Given the description of an element on the screen output the (x, y) to click on. 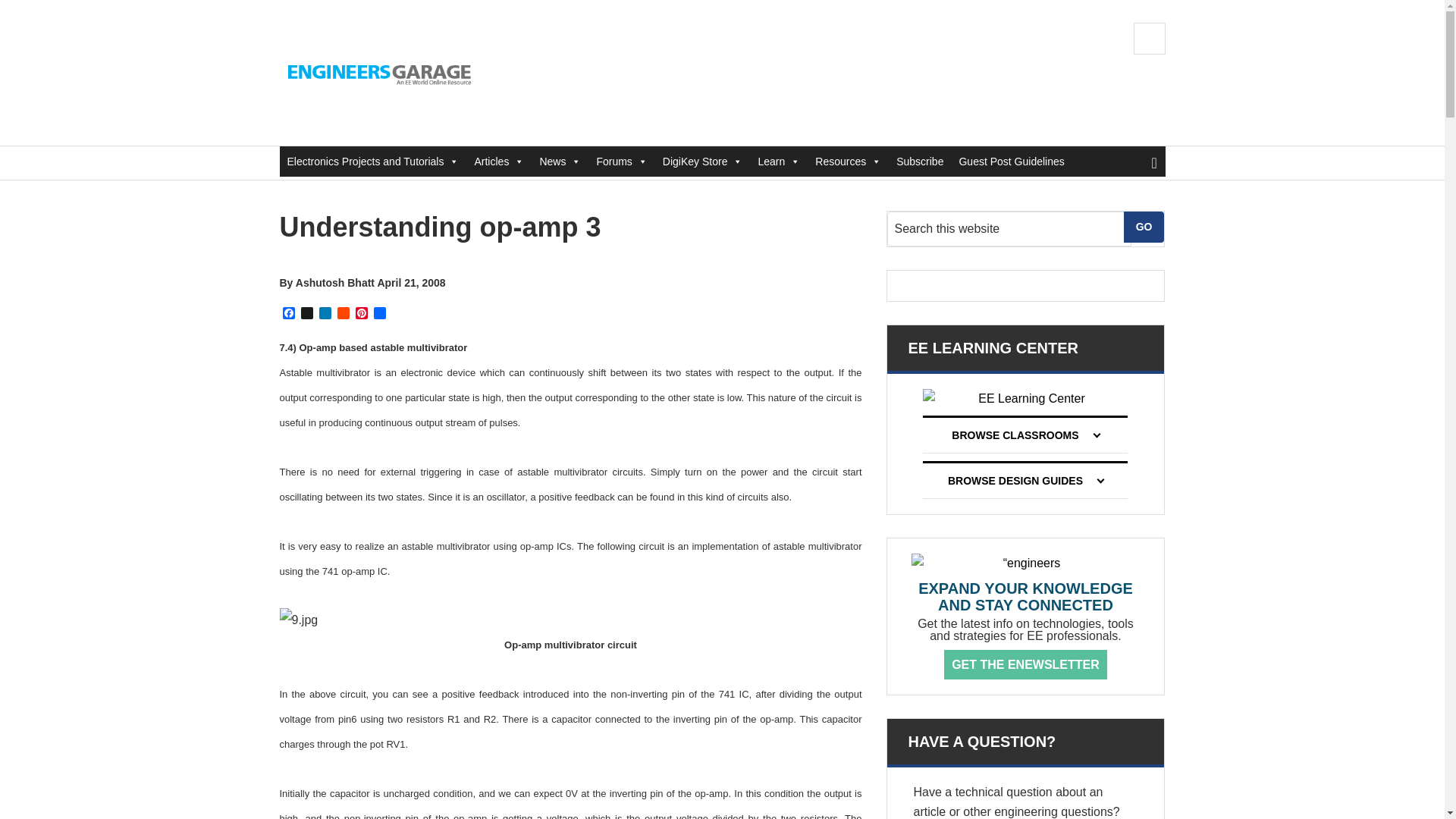
Facebook (288, 314)
Articles (498, 161)
X (306, 314)
GO (1144, 226)
GO (1144, 226)
Electronics Projects and Tutorials (372, 161)
Engineers Garage (380, 72)
Reddit (342, 314)
News (559, 161)
Pinterest (360, 314)
LinkedIn (324, 314)
